Given the description of an element on the screen output the (x, y) to click on. 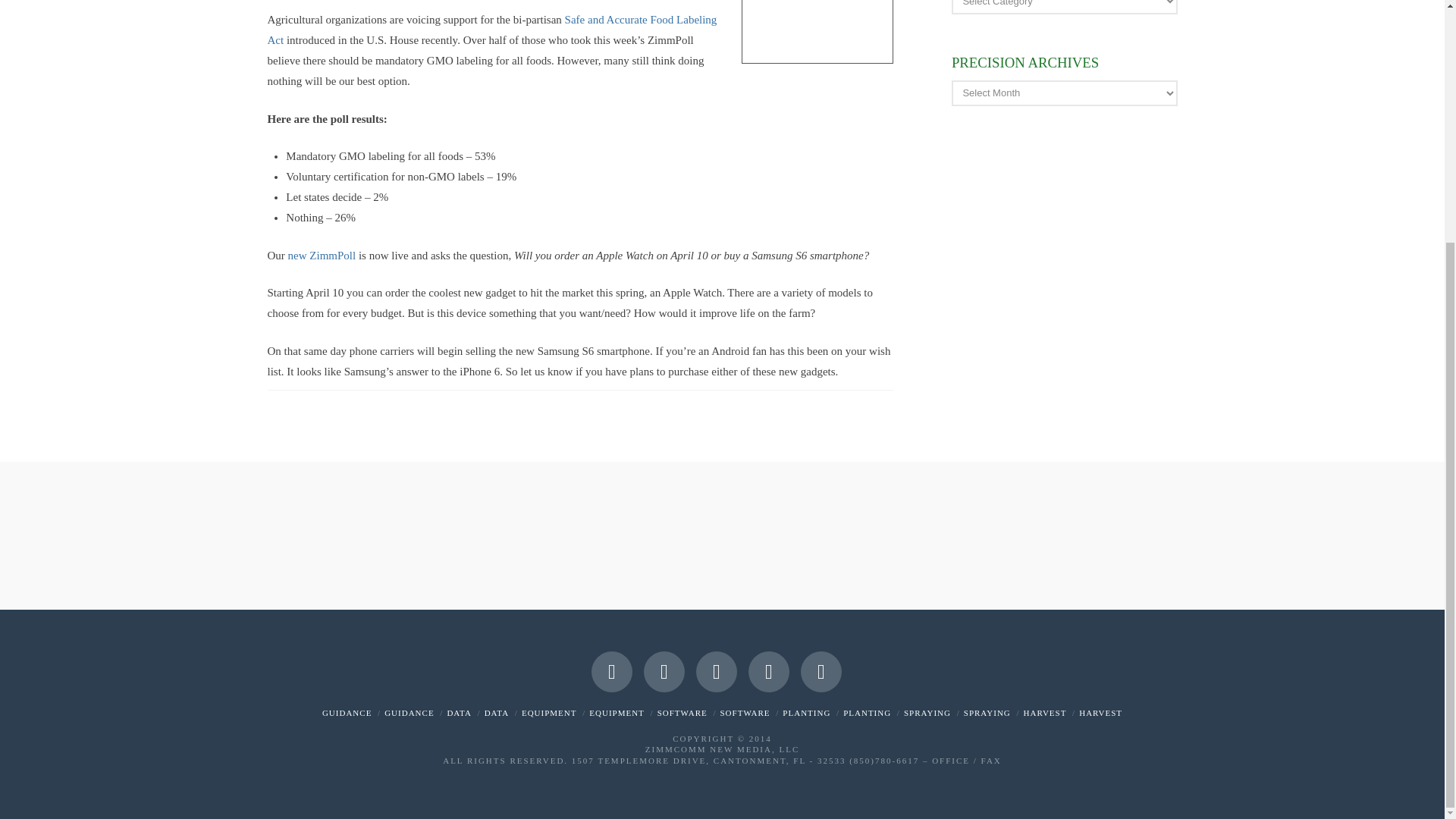
DATA (458, 712)
PLANTING (806, 712)
RSS (820, 671)
GUIDANCE (408, 712)
DATA (496, 712)
Facebook (611, 671)
YouTube (715, 671)
SOFTWARE (682, 712)
Safe and Accurate Food Labeling Act (491, 29)
ZimmComm New Media, LLC (722, 748)
new ZimmPoll (322, 255)
SOFTWARE (745, 712)
Twitter (663, 671)
GUIDANCE (346, 712)
Flickr (768, 671)
